Given the description of an element on the screen output the (x, y) to click on. 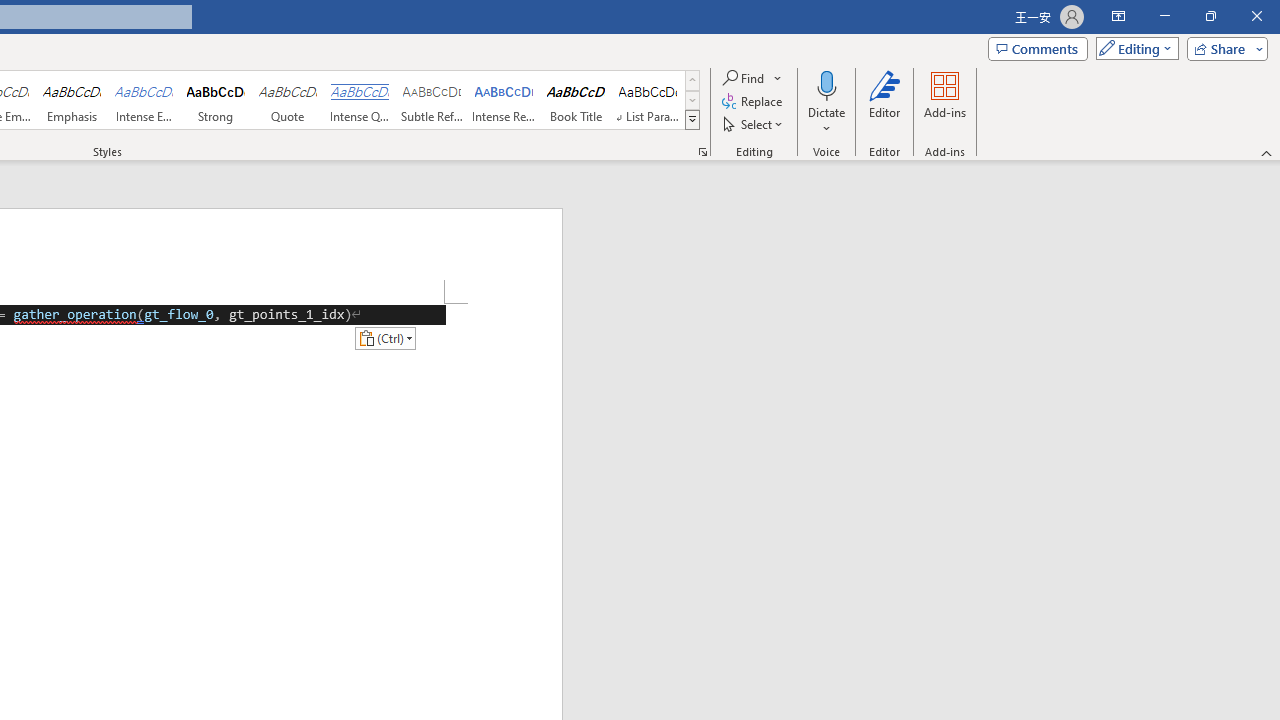
Subtle Reference (431, 100)
Strong (216, 100)
Book Title (575, 100)
Intense Emphasis (143, 100)
Quote (287, 100)
